Given the description of an element on the screen output the (x, y) to click on. 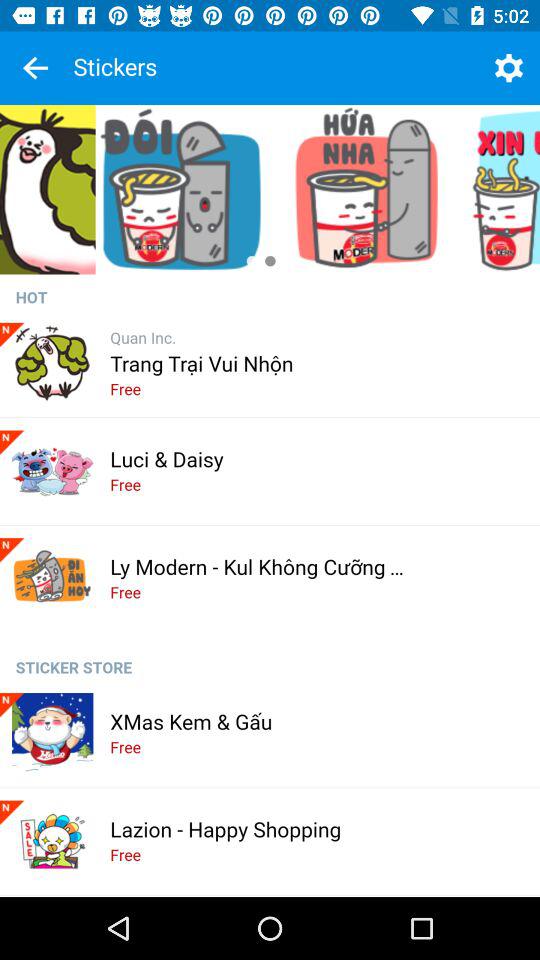
go to previous (35, 68)
